Given the description of an element on the screen output the (x, y) to click on. 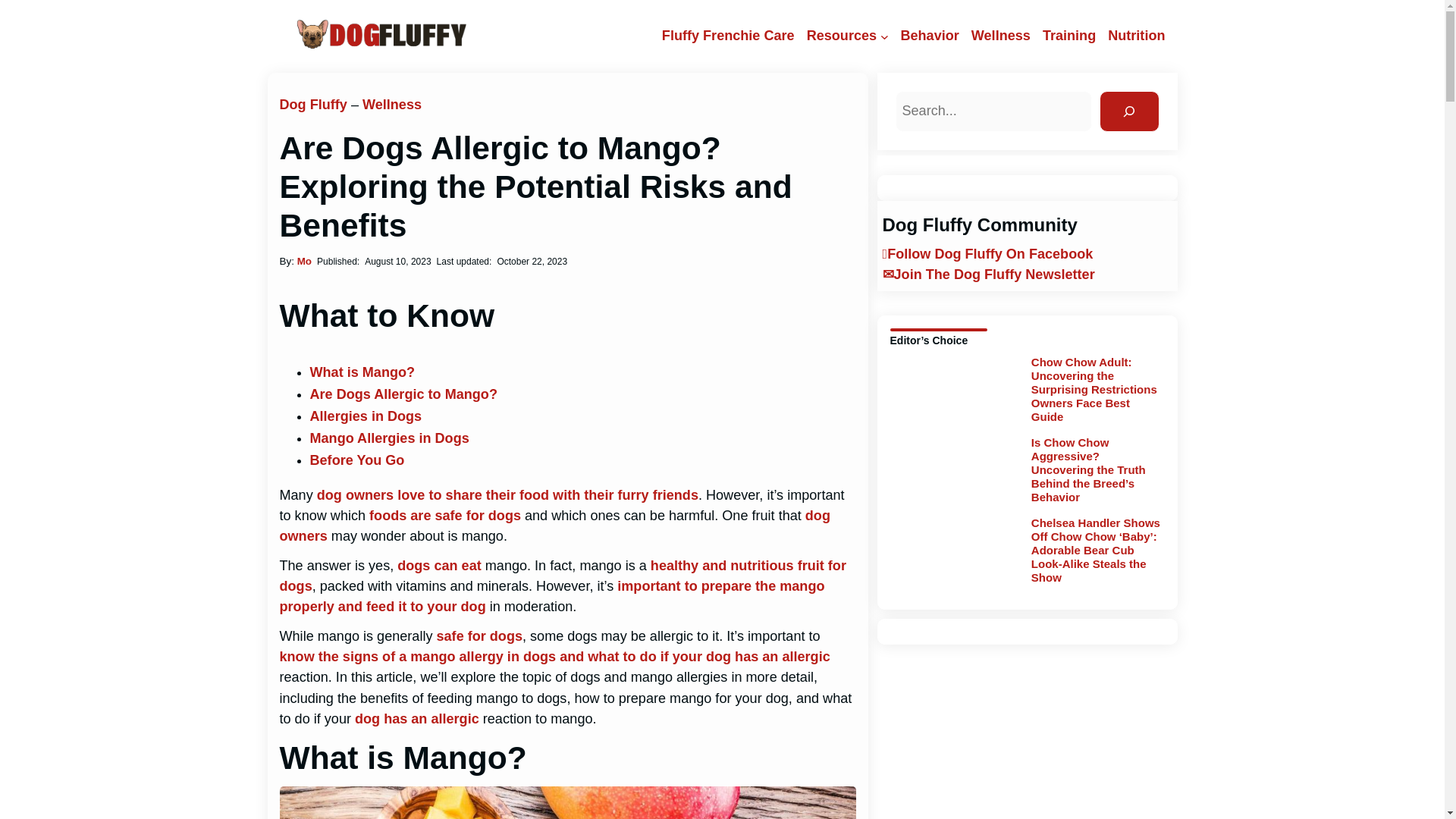
dog owners love to share their food with their furry friends (507, 494)
Resources (841, 35)
What is Mango? (361, 372)
Mango Allergies in Dogs (388, 437)
Before You Go (356, 459)
dog owners (554, 525)
Are Dogs Allergic to Mango? (402, 394)
safe for dogs (479, 635)
dog has an allergic (417, 718)
Allergies in Dogs (365, 416)
Wellness (1000, 35)
healthy and nutritious fruit for dogs (562, 575)
Dog Fluffy (312, 104)
